Given the description of an element on the screen output the (x, y) to click on. 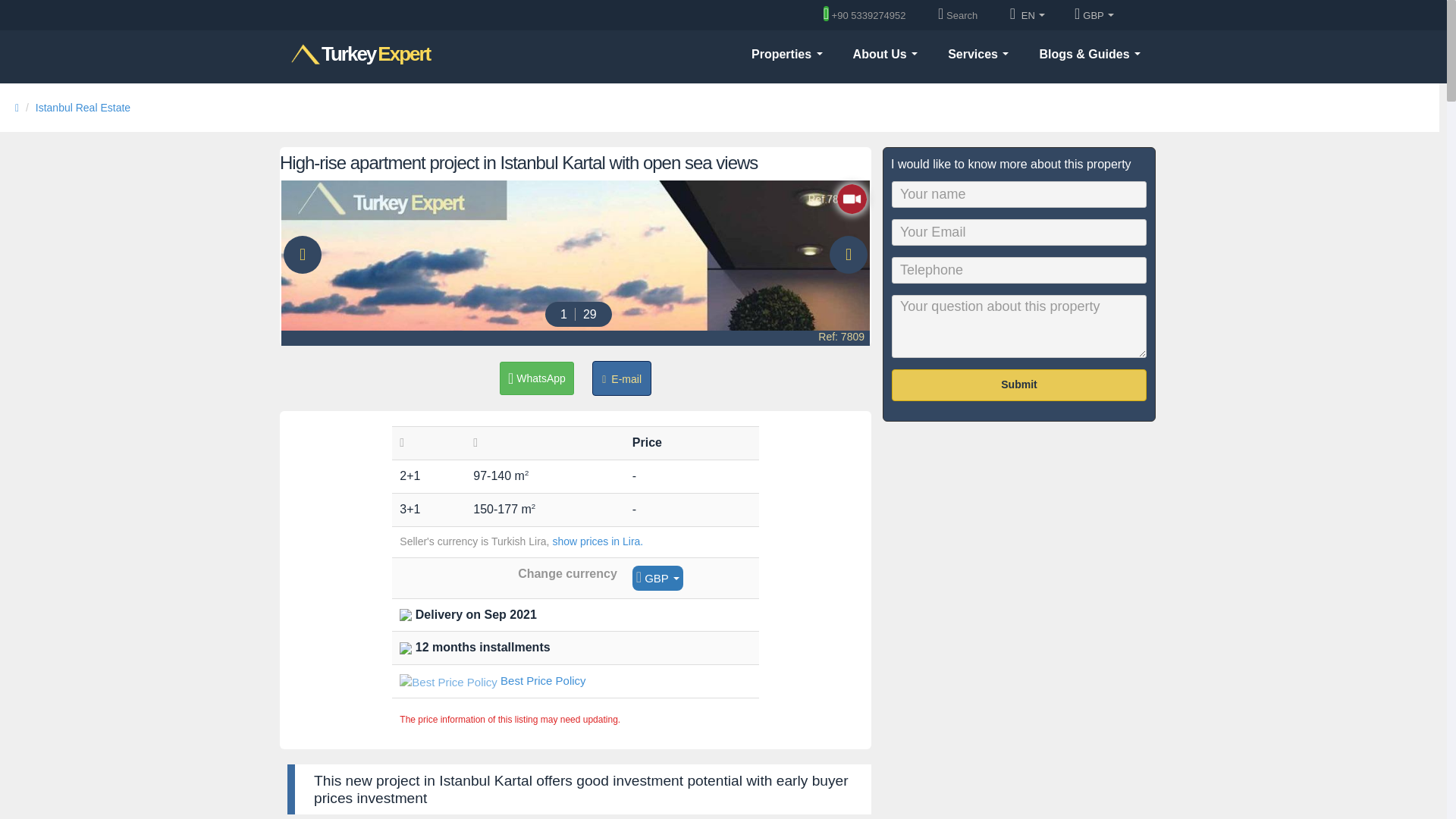
Turkey real estate (787, 53)
About Us (885, 53)
Professional real estate agent in Turkey (360, 54)
GBP (360, 54)
Properties (1093, 15)
Change Language (787, 53)
EN (1027, 15)
Search (1027, 15)
